Given the description of an element on the screen output the (x, y) to click on. 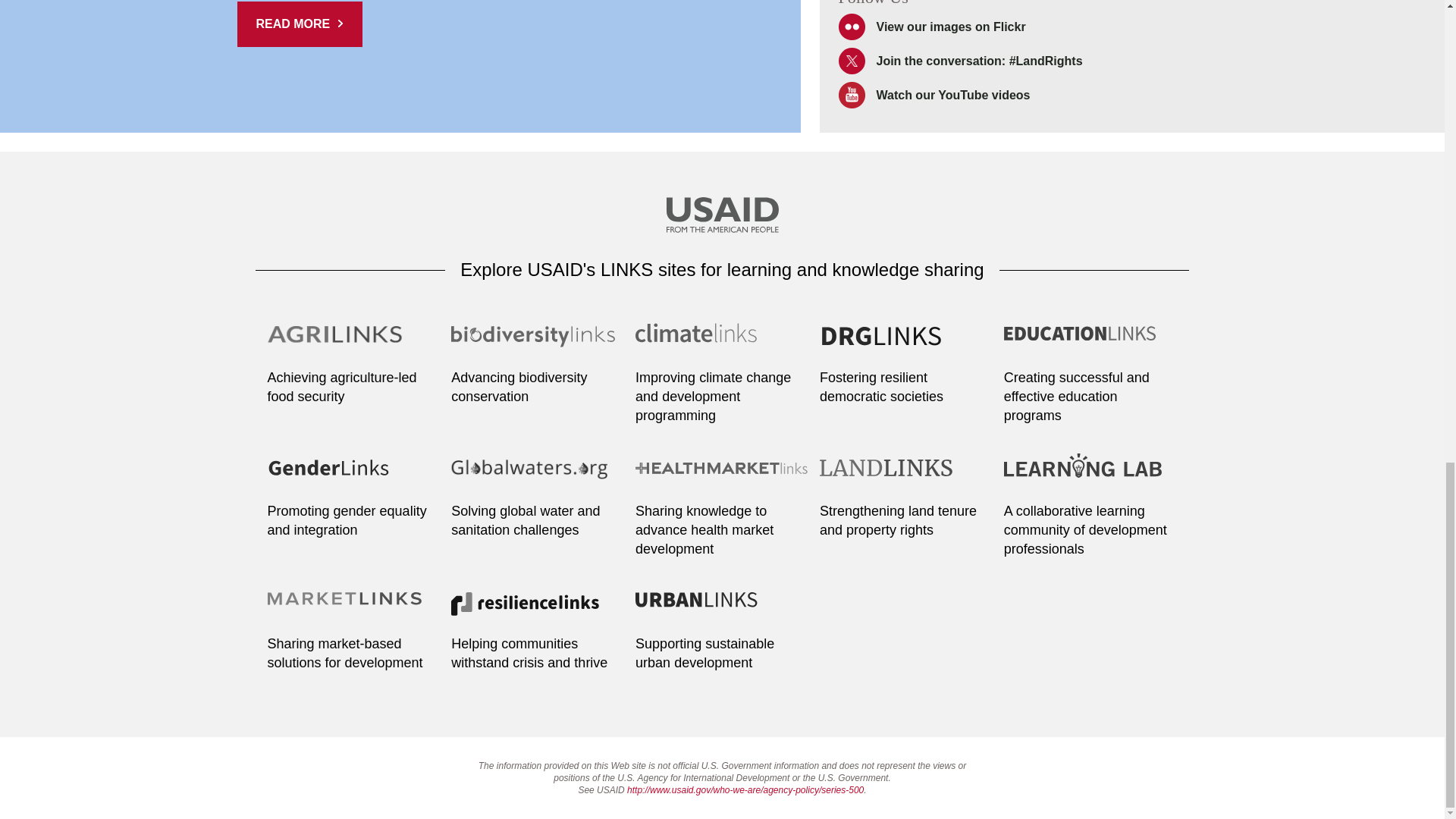
Go to MarketLinks (353, 609)
Go to Climatelinks (721, 343)
Go to Educationlinks (1090, 343)
Go to DRG (905, 343)
Go to USAID (721, 216)
Go to Agrilinks (353, 343)
Go to Biodiversitylinks (537, 343)
Go to Globalwaters (537, 476)
Go to Healthmarket Links (721, 476)
Go to Landlinks (905, 476)
Go to Genderlinks (353, 476)
Go to LearningLab (1090, 476)
Go to Resiliencelinks (537, 609)
